Given the description of an element on the screen output the (x, y) to click on. 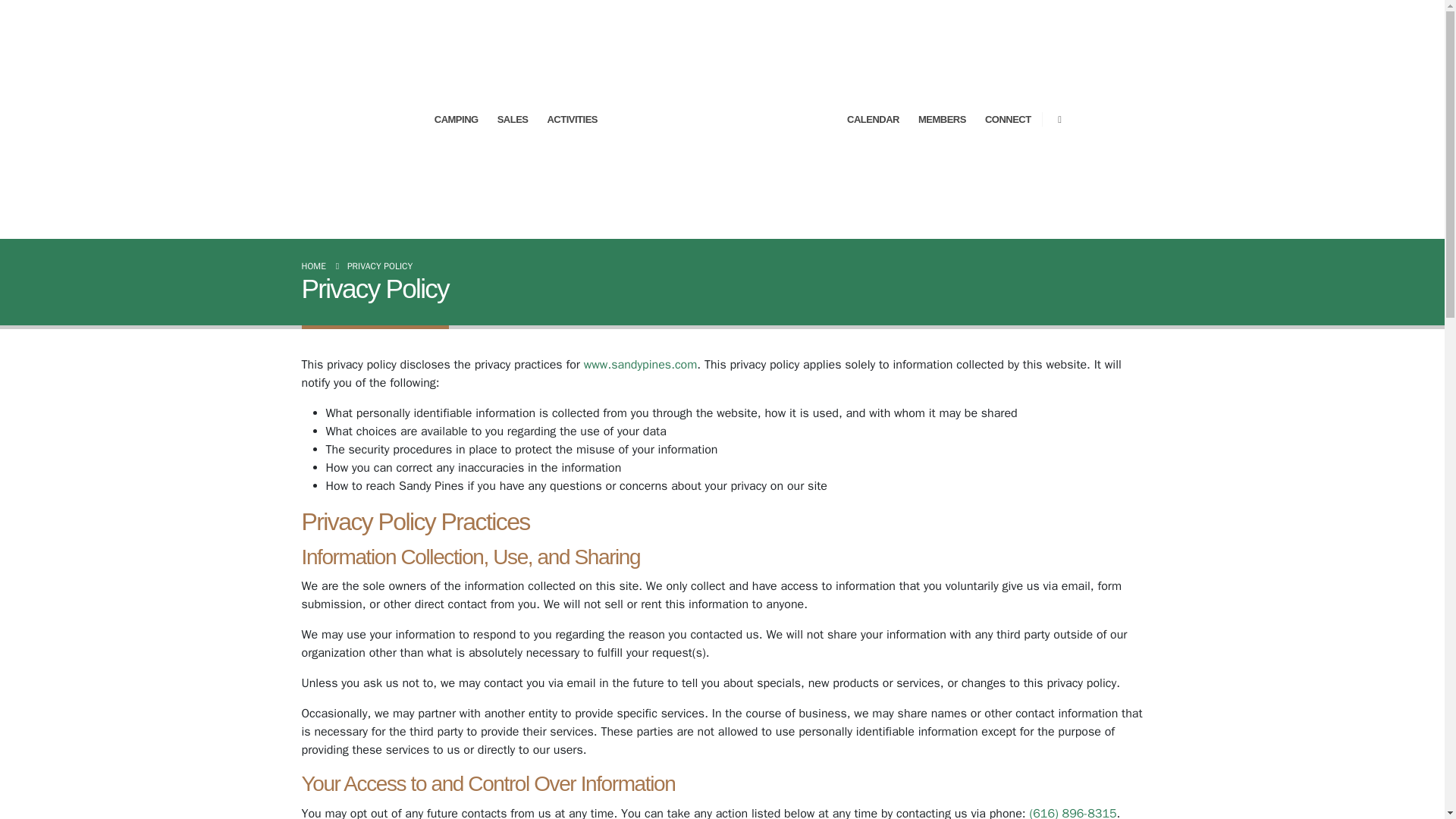
Go to Home Page (313, 265)
HOME (313, 265)
ACTIVITIES (572, 119)
CALENDAR (873, 119)
www.sandypines.com (640, 364)
